Given the description of an element on the screen output the (x, y) to click on. 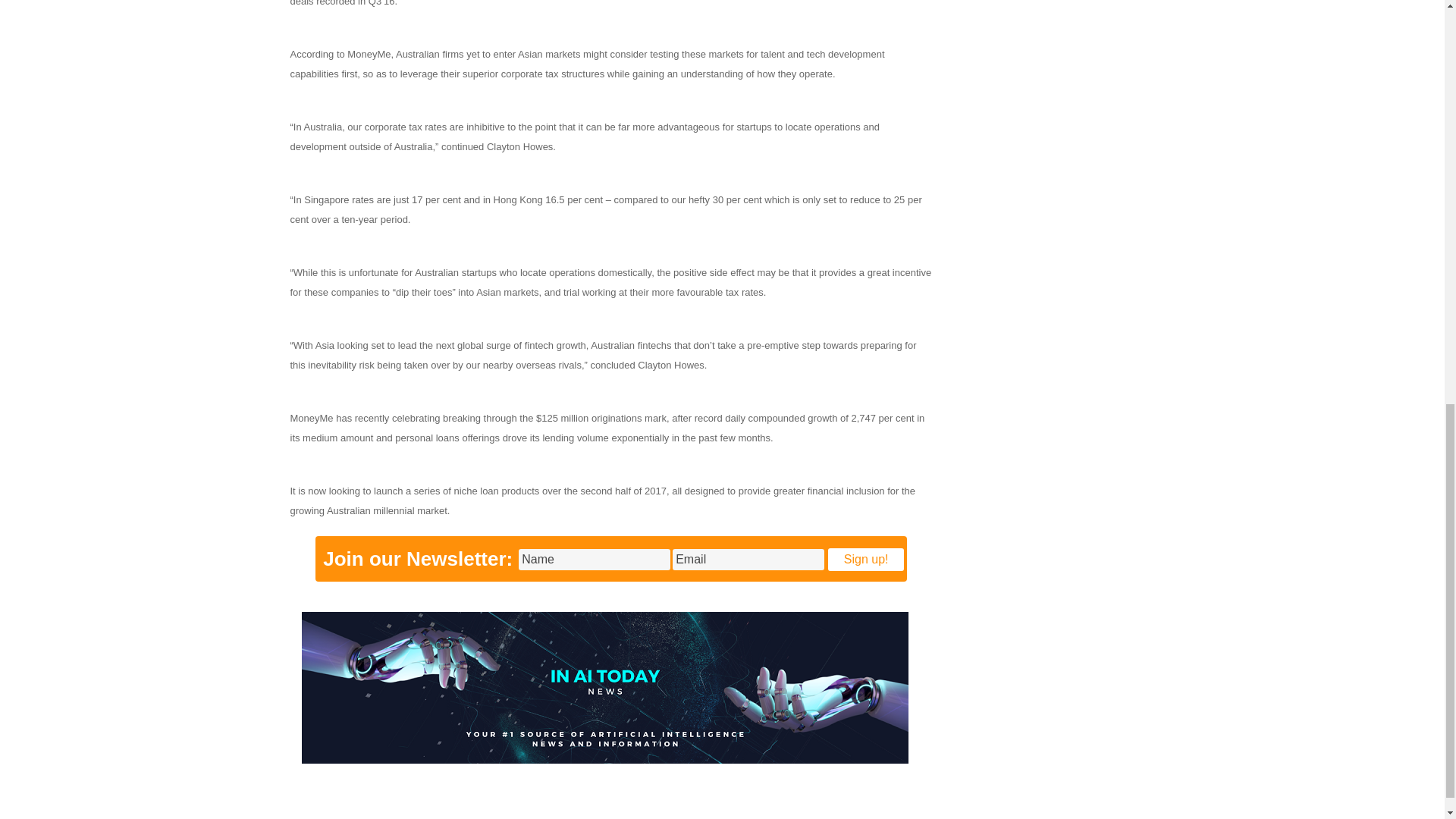
Sign up! (866, 558)
Sign up! (866, 558)
